Given the description of an element on the screen output the (x, y) to click on. 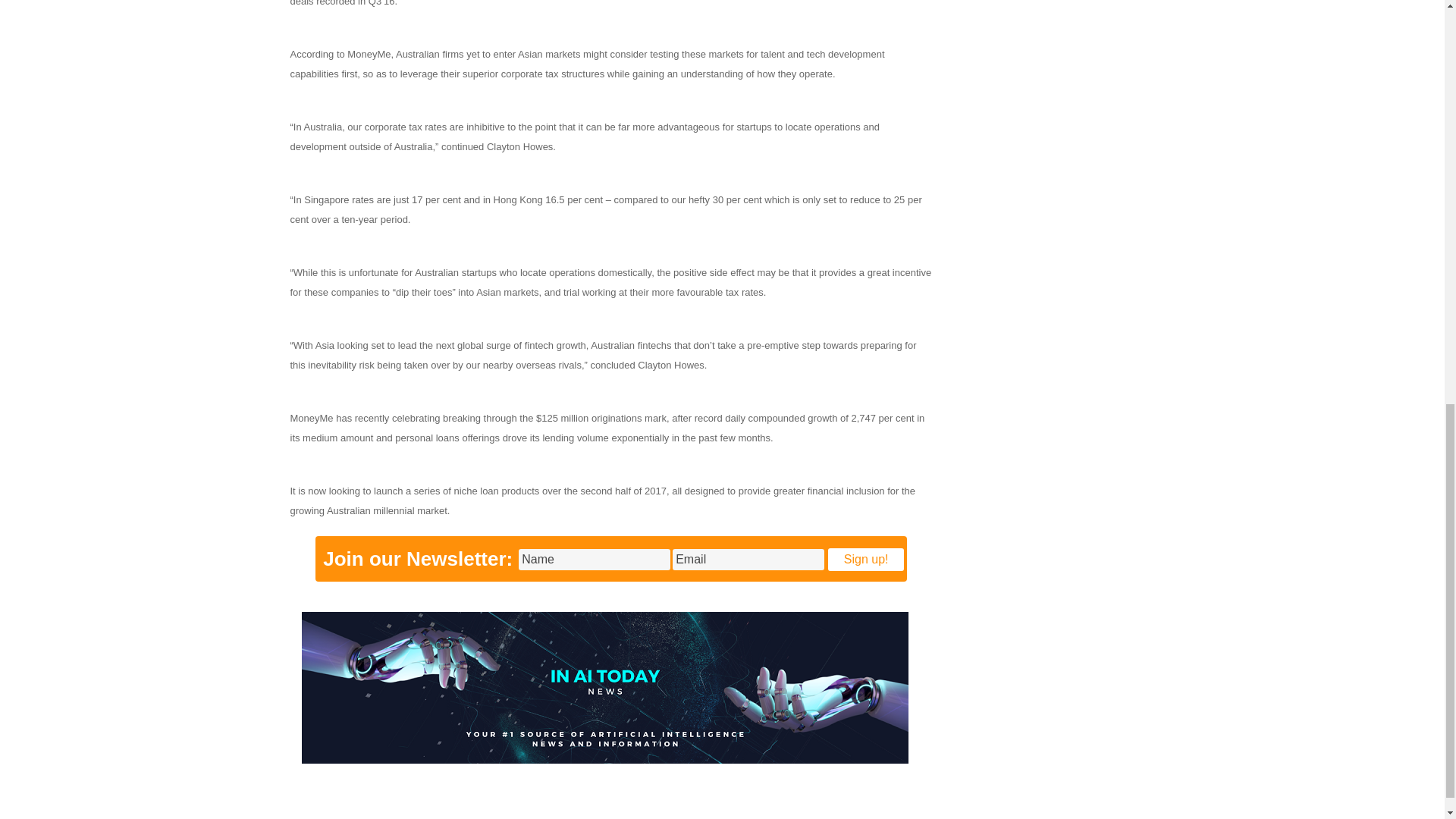
Sign up! (866, 558)
Sign up! (866, 558)
